Given the description of an element on the screen output the (x, y) to click on. 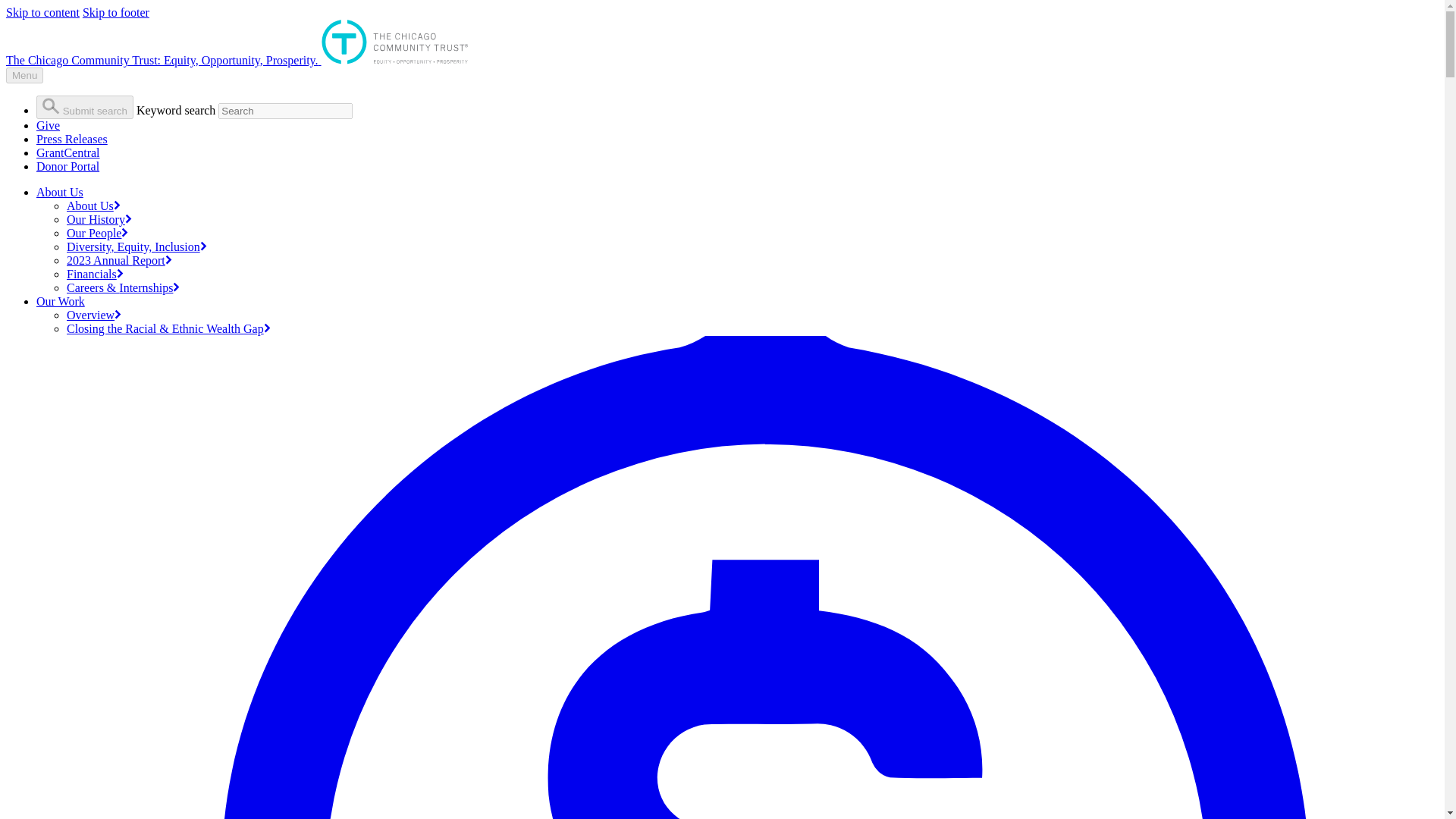
Skip to content (42, 11)
About Us (93, 205)
Our History (99, 219)
Skip to footer (115, 11)
Financials (94, 273)
2023 Annual Report (118, 259)
Donor Portal (67, 165)
Menu (24, 75)
Diversity, Equity, Inclusion (136, 246)
Our Work (60, 300)
Give (47, 124)
Overview (93, 314)
Submit search (84, 106)
GrantCentral (68, 152)
About Us (59, 192)
